Given the description of an element on the screen output the (x, y) to click on. 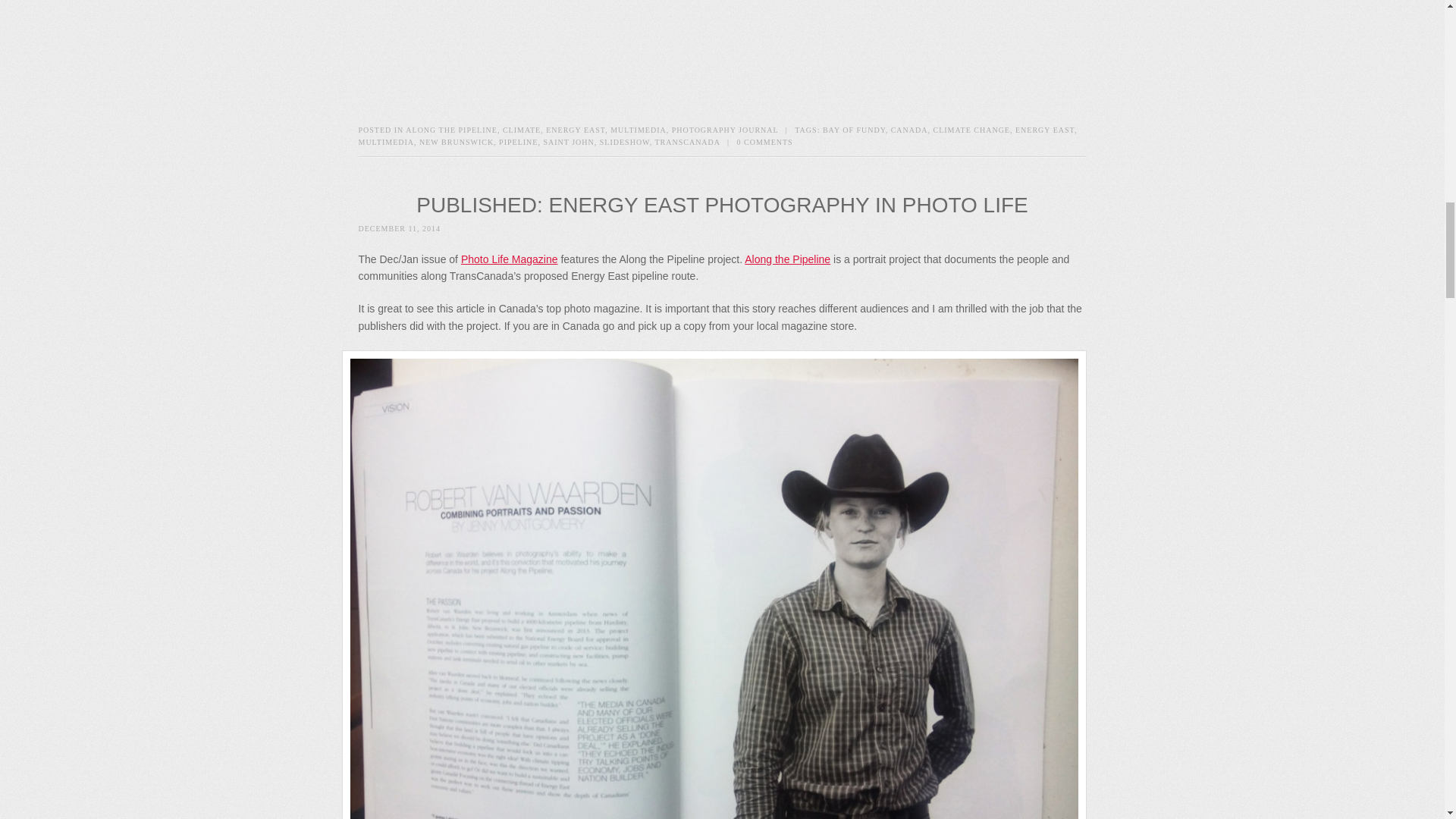
12:48 pm (399, 228)
